Given the description of an element on the screen output the (x, y) to click on. 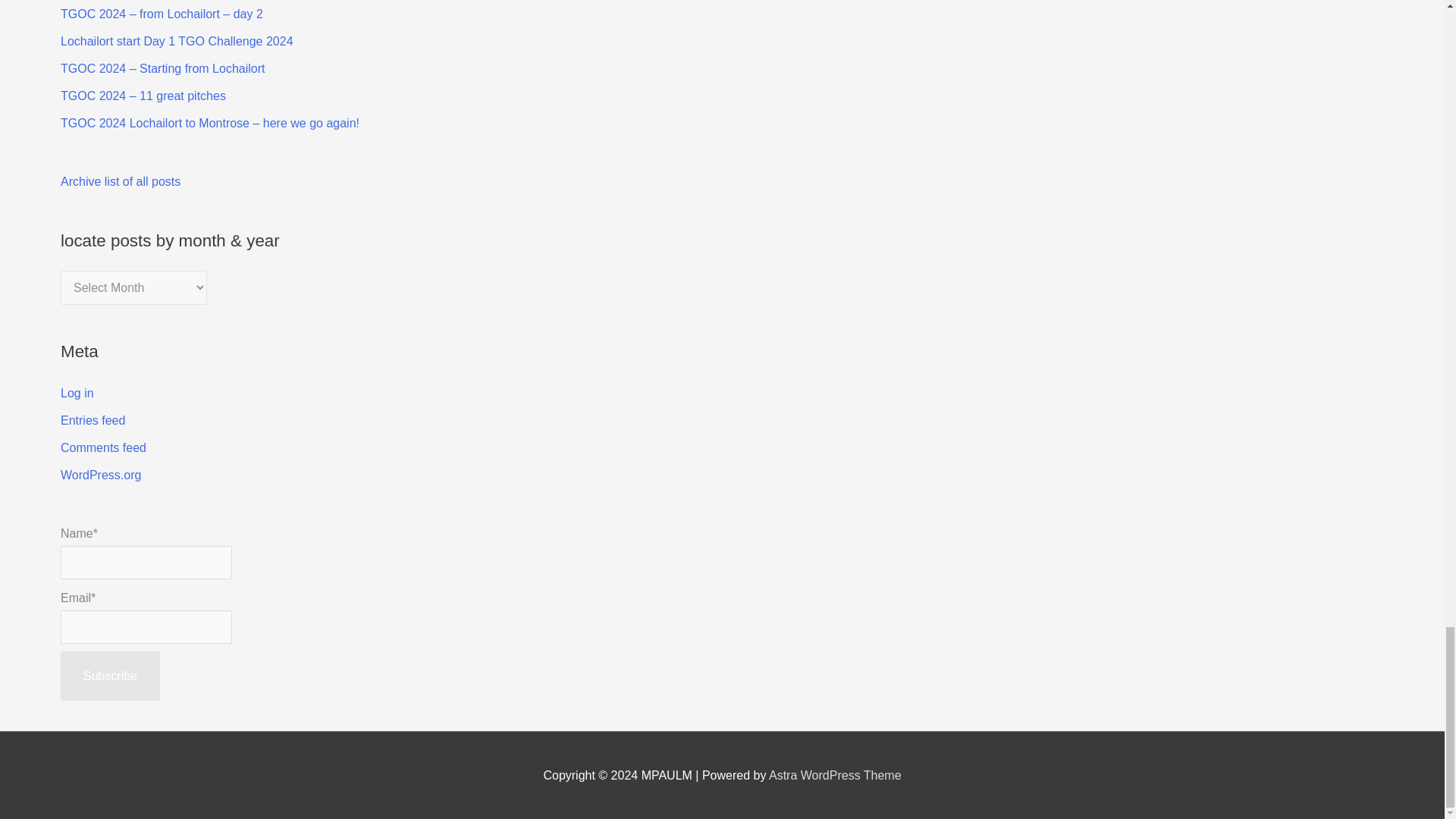
Archive list of all posts (120, 181)
Subscribe (110, 676)
Lochailort start Day 1 TGO Challenge 2024 (177, 41)
